Given the description of an element on the screen output the (x, y) to click on. 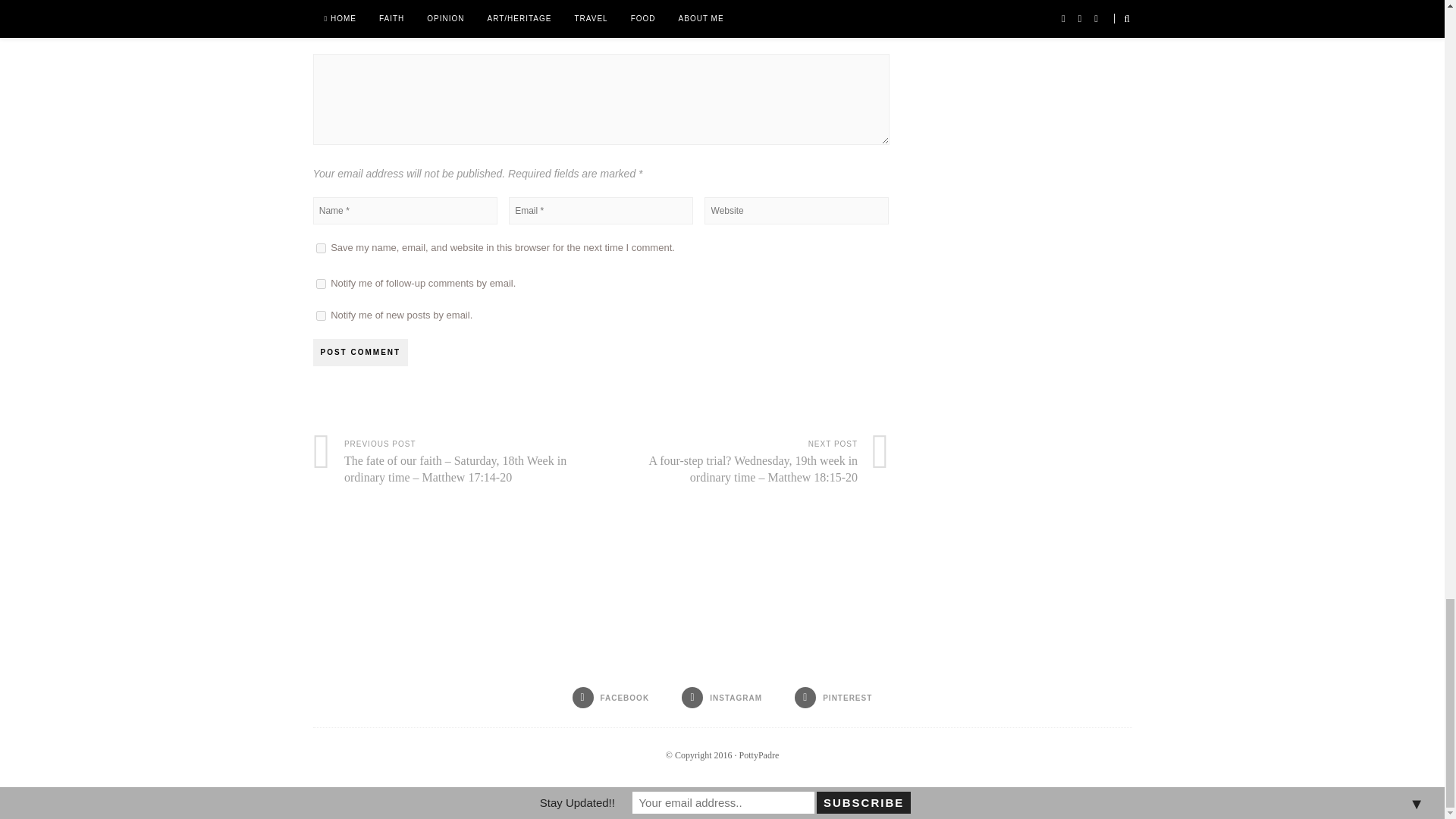
subscribe (319, 316)
Post Comment (360, 352)
Post Comment (360, 352)
subscribe (319, 284)
yes (319, 248)
